Given the description of an element on the screen output the (x, y) to click on. 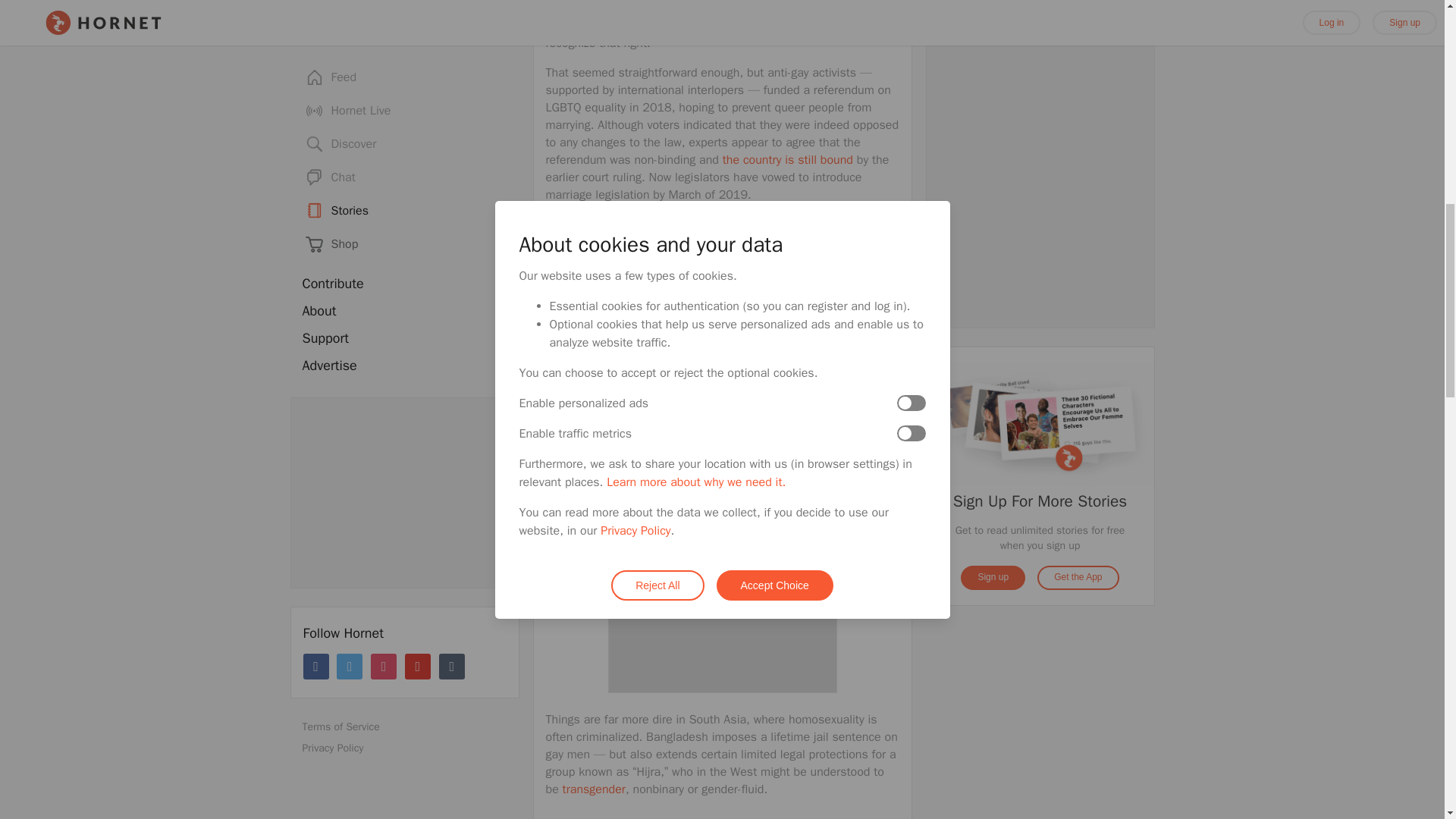
high court ruled (646, 7)
marriage equality (716, 16)
Thailand could beat Taiwan (735, 224)
the country is still bound (787, 159)
China (680, 376)
